Given the description of an element on the screen output the (x, y) to click on. 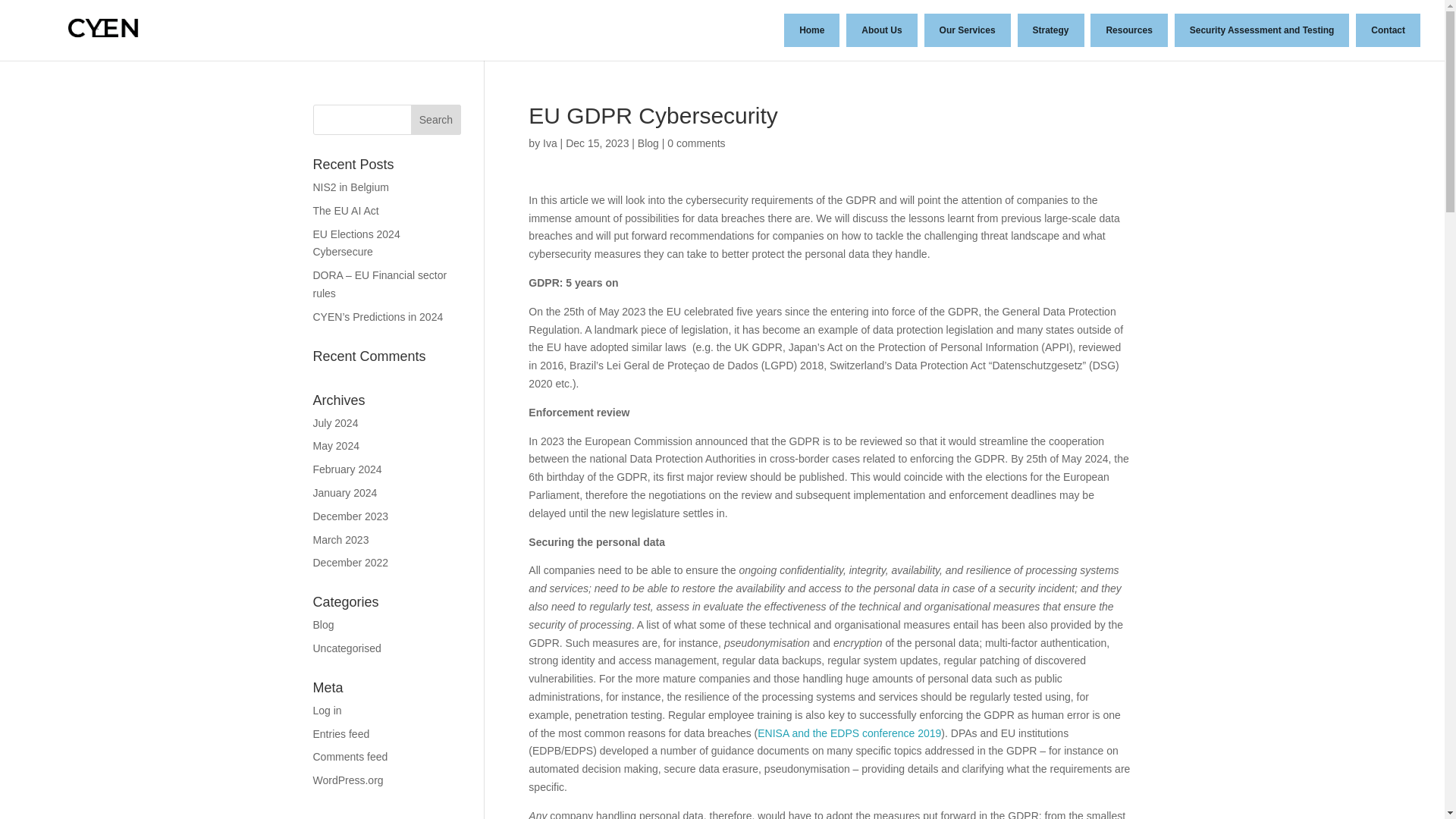
Contact (1388, 29)
Security Assessment and Testing (1261, 29)
Strategy (1050, 29)
Search (435, 119)
Posts by Iva (550, 143)
Blog (648, 143)
The EU AI Act (345, 210)
Iva (550, 143)
May 2024 (335, 445)
Search (435, 119)
